Given the description of an element on the screen output the (x, y) to click on. 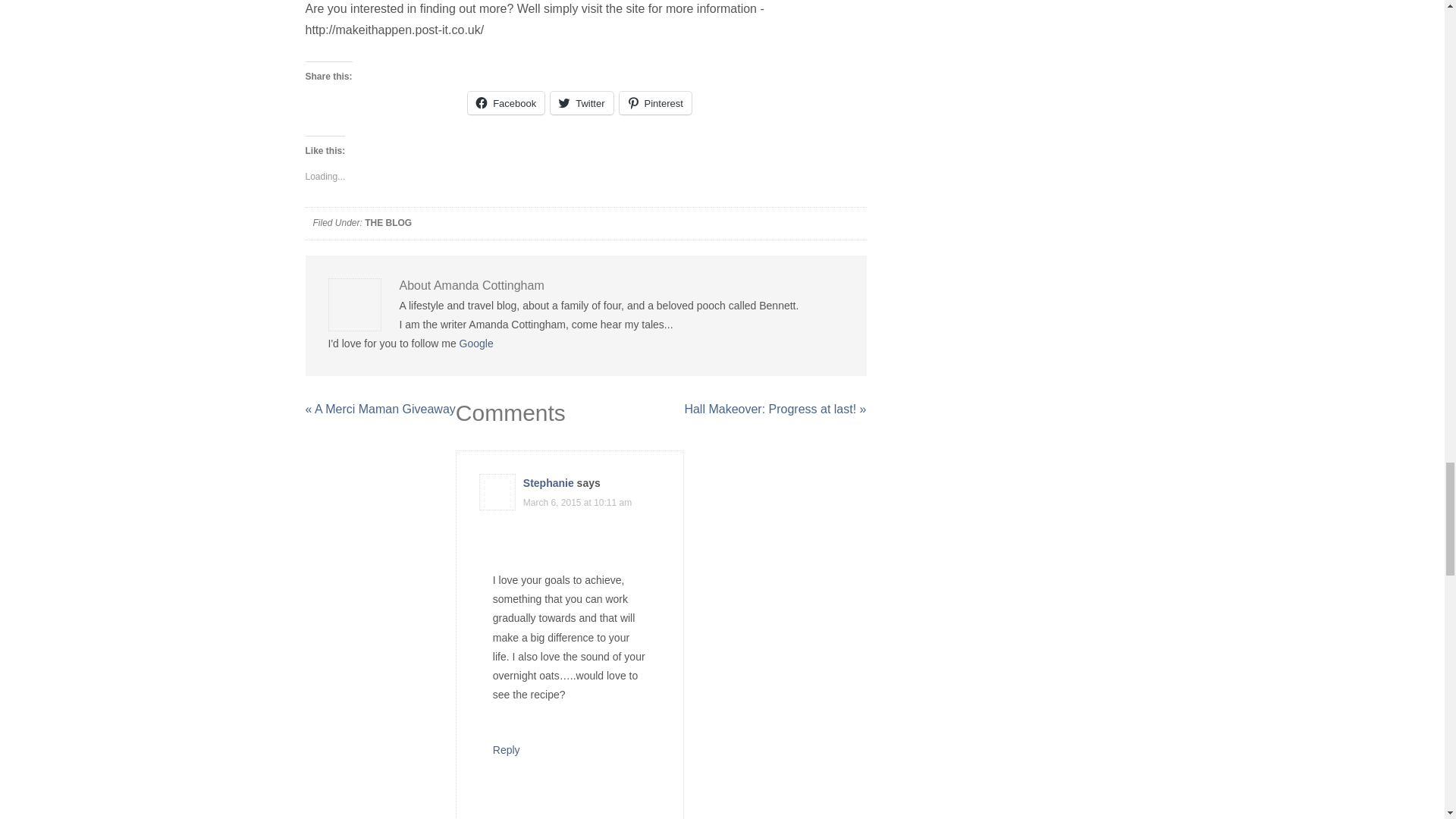
Click to share on Twitter (581, 102)
Pinterest (655, 102)
Click to share on Facebook (505, 102)
THE BLOG (388, 222)
Twitter (581, 102)
Facebook (505, 102)
Google (476, 343)
Click to share on Pinterest (655, 102)
